Given the description of an element on the screen output the (x, y) to click on. 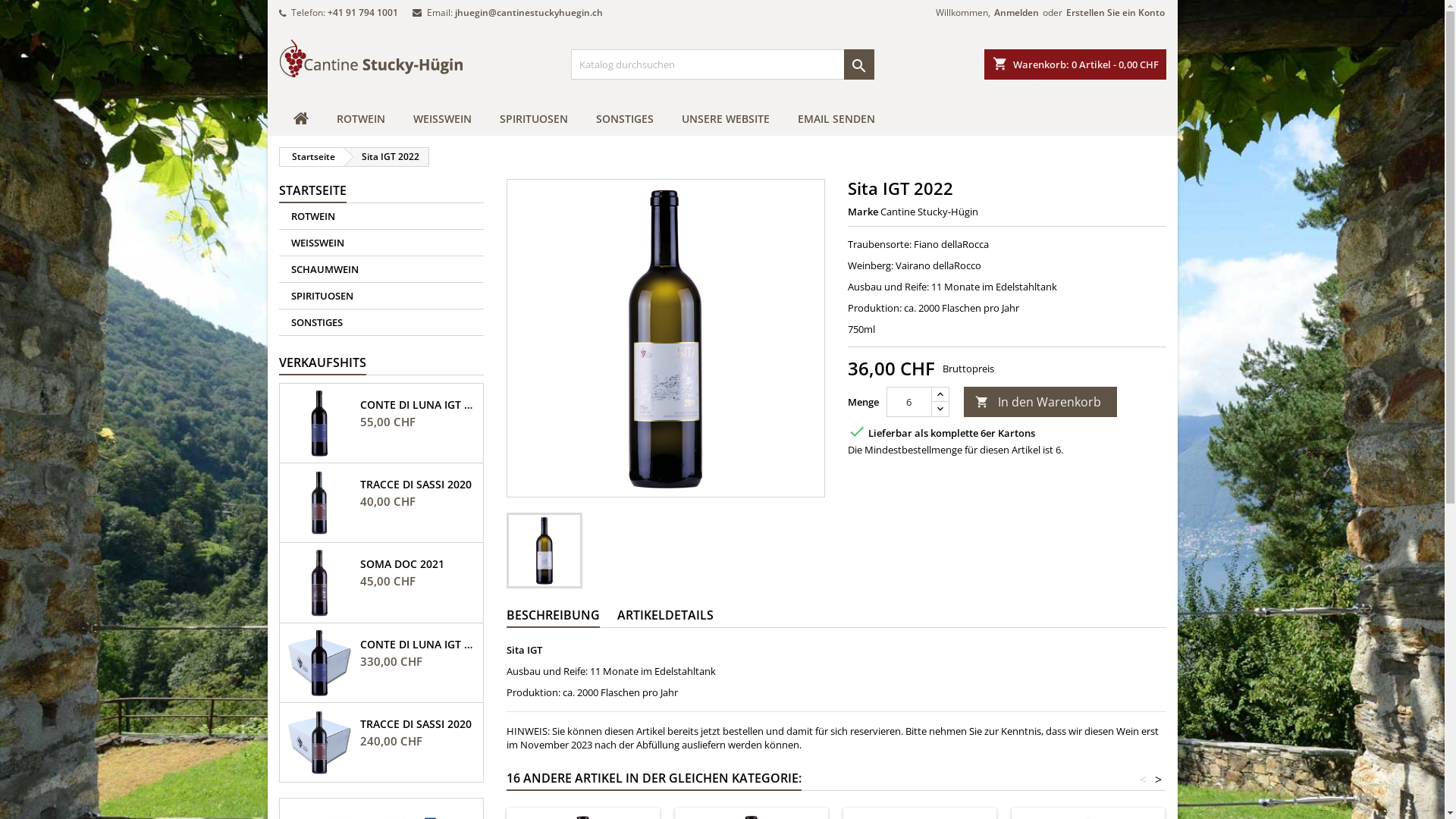
> Element type: text (1157, 779)
WEISSWEIN Element type: text (441, 118)
EMAIL SENDEN Element type: text (836, 118)
VERKAUFSHITS Element type: text (322, 363)
Anmelden Element type: text (1015, 12)
SPIRITUOSEN Element type: text (532, 118)
SONSTIGES Element type: text (381, 322)
TRACCE DI SASSI 2020 Element type: text (418, 724)
Sita IGT 2022 Element type: text (385, 156)
UNSERE WEBSITE Element type: text (724, 118)
BESCHREIBUNG Element type: text (552, 615)
ROTWEIN Element type: text (360, 118)
ROTWEIN Element type: text (381, 216)
SOMA DOC 2021 Element type: text (418, 564)
Startseite Element type: text (310, 156)
WEISSWEIN Element type: text (381, 242)
CONTE DI LUNA IGT 2020 Element type: text (418, 644)
+41 91 794 1001 Element type: text (362, 12)
TRACCE DI SASSI 2020 Element type: text (418, 484)
jhuegin@cantinestuckyhuegin.ch Element type: text (528, 12)
Erstellen Sie ein Konto Element type: text (1115, 12)
SPIRITUOSEN Element type: text (381, 295)
< Element type: text (1142, 779)
Aktualisieren Element type: text (35, 9)
ARTIKELDETAILS Element type: text (665, 615)
CONTE DI LUNA IGT 2020 Element type: text (418, 404)
SONSTIGES Element type: text (624, 118)
shopping_cart
Warenkorb: 0 Artikel - 0,00 CHF Element type: text (1075, 64)
STARTSEITE Element type: text (312, 190)
SCHAUMWEIN Element type: text (381, 269)
